Given the description of an element on the screen output the (x, y) to click on. 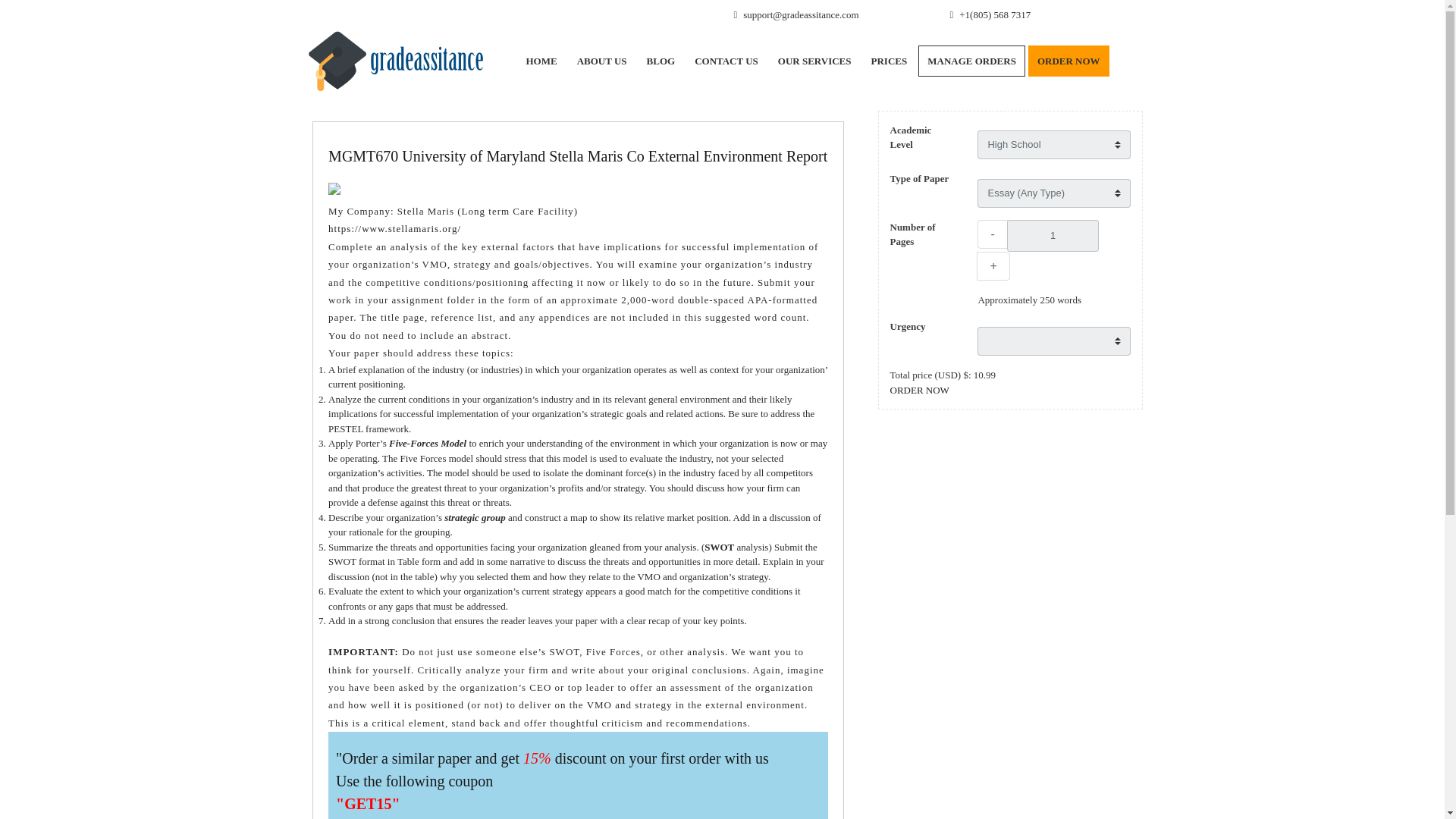
ORDER NOW (919, 389)
ORDER NOW (1068, 60)
PRICES (889, 60)
ABOUT US (601, 60)
MANAGE ORDERS (971, 60)
CONTACT US (726, 60)
OUR SERVICES (815, 60)
1 (1053, 235)
BLOG (661, 60)
- (991, 234)
HOME (540, 60)
